Given the description of an element on the screen output the (x, y) to click on. 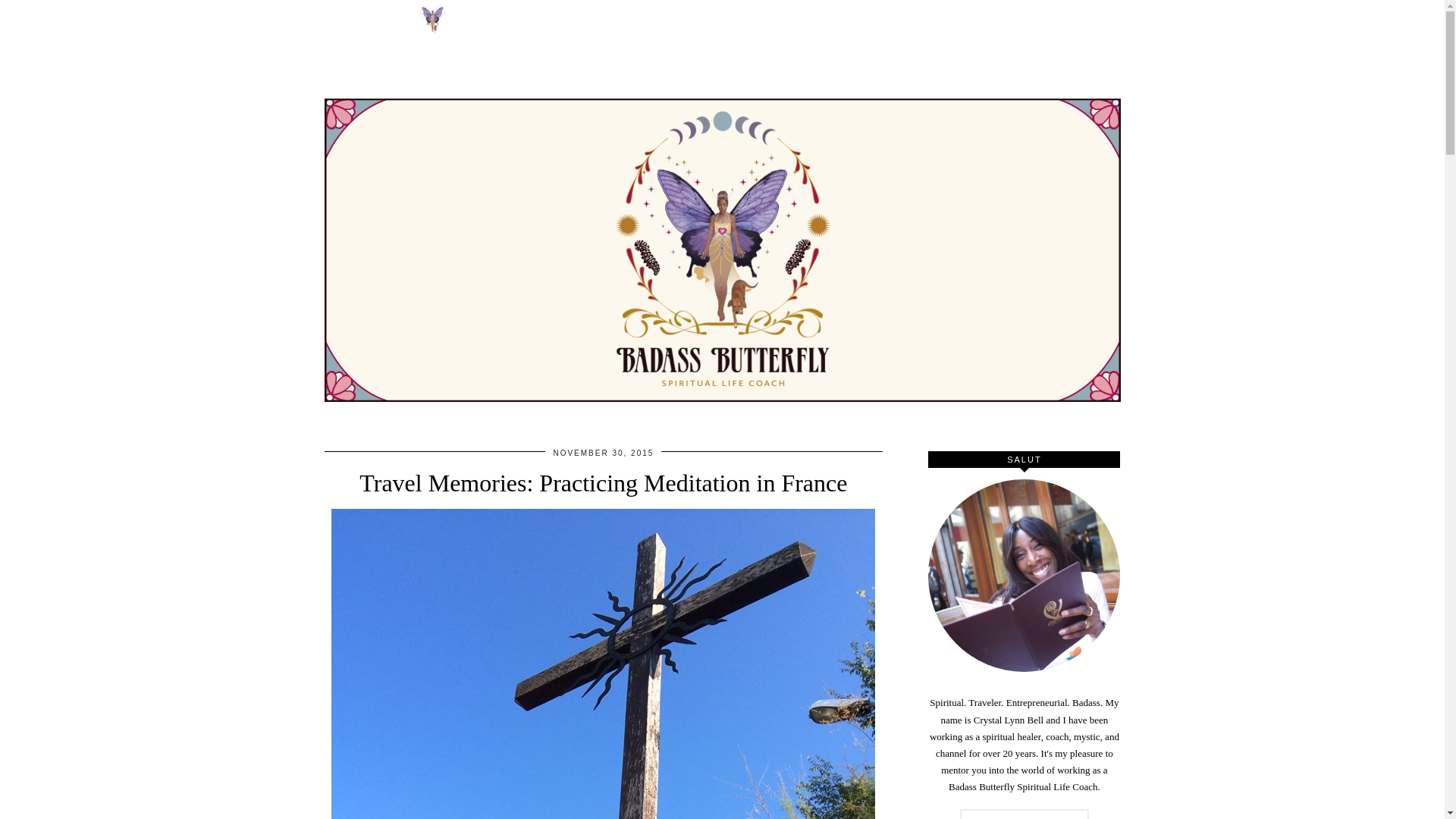
HOME (455, 18)
WORK WITH ME (569, 17)
BLOG (874, 17)
ENERGY WORKBOOK (973, 17)
BECOME A SPIRITUAL LIFE COACH! (735, 17)
